Given the description of an element on the screen output the (x, y) to click on. 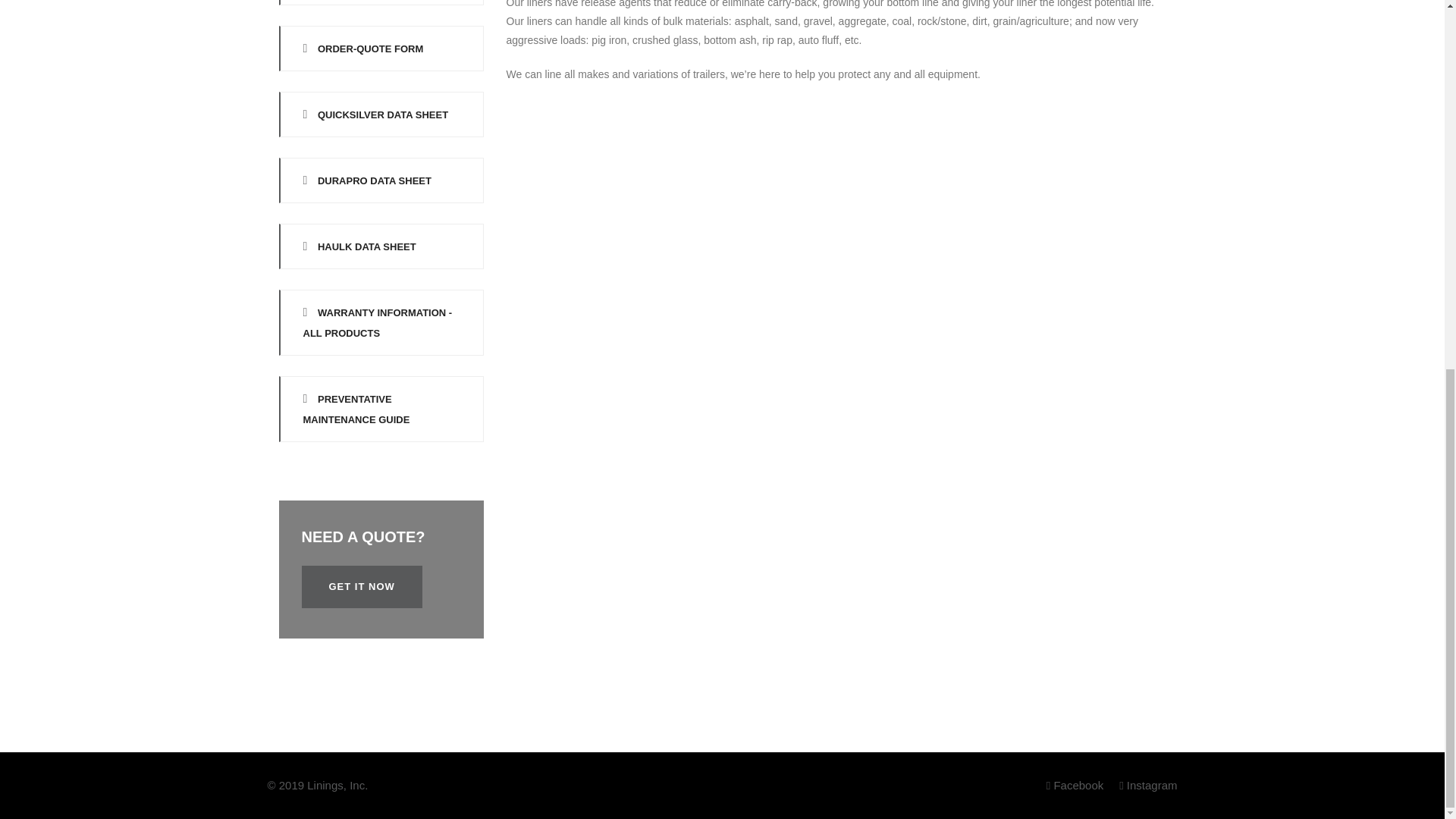
DOWNLOAD BROCHURE (381, 2)
PREVENTATIVE MAINTENANCE GUIDE (381, 408)
GET IT NOW (361, 586)
WARRANTY INFORMATION - ALL PRODUCTS (381, 322)
QUICKSILVER DATA SHEET (381, 114)
ORDER-QUOTE FORM (381, 48)
DURAPRO DATA SHEET (381, 180)
HAULK DATA SHEET (381, 246)
